Given the description of an element on the screen output the (x, y) to click on. 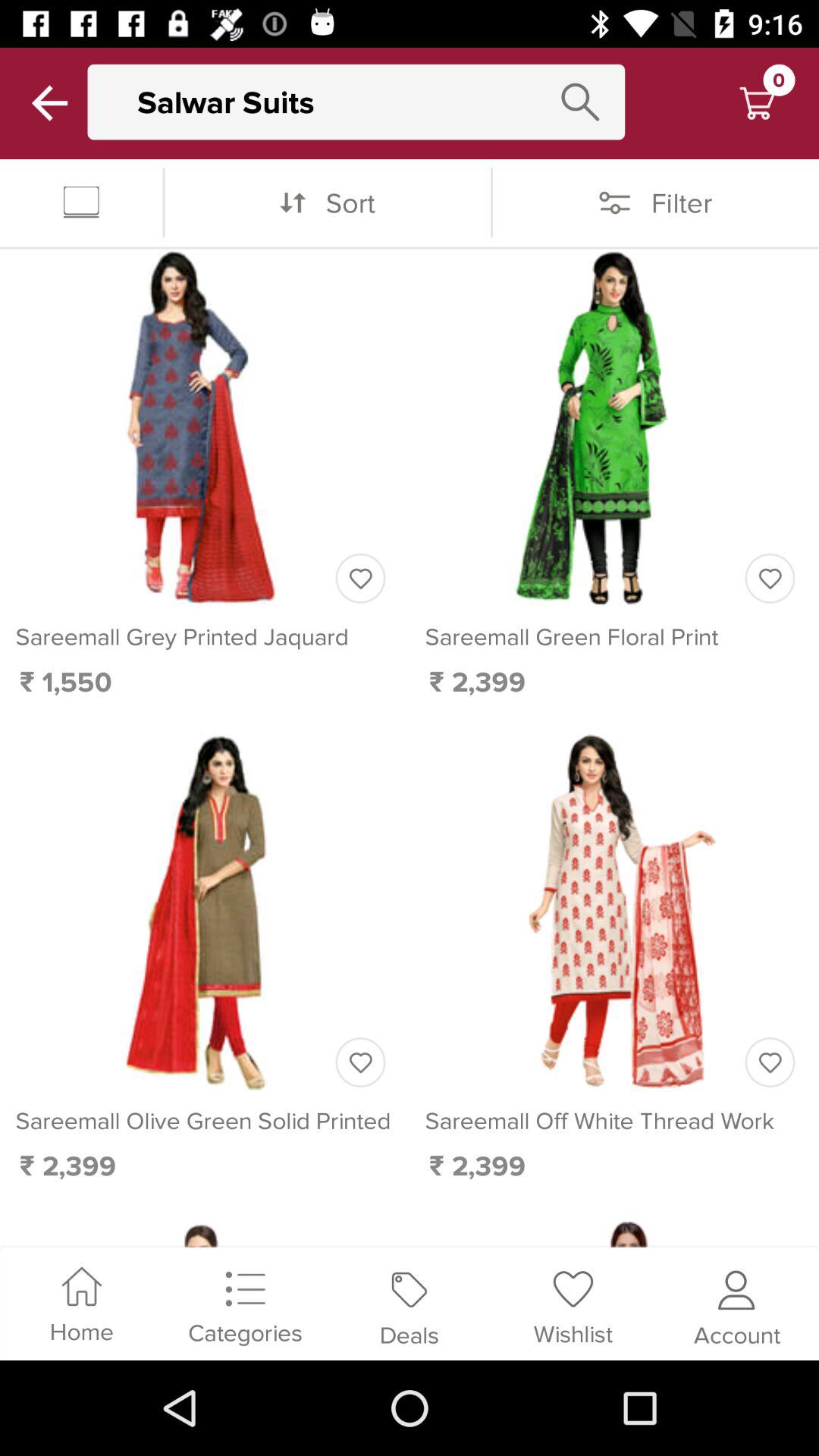
display cart content (757, 103)
